Given the description of an element on the screen output the (x, y) to click on. 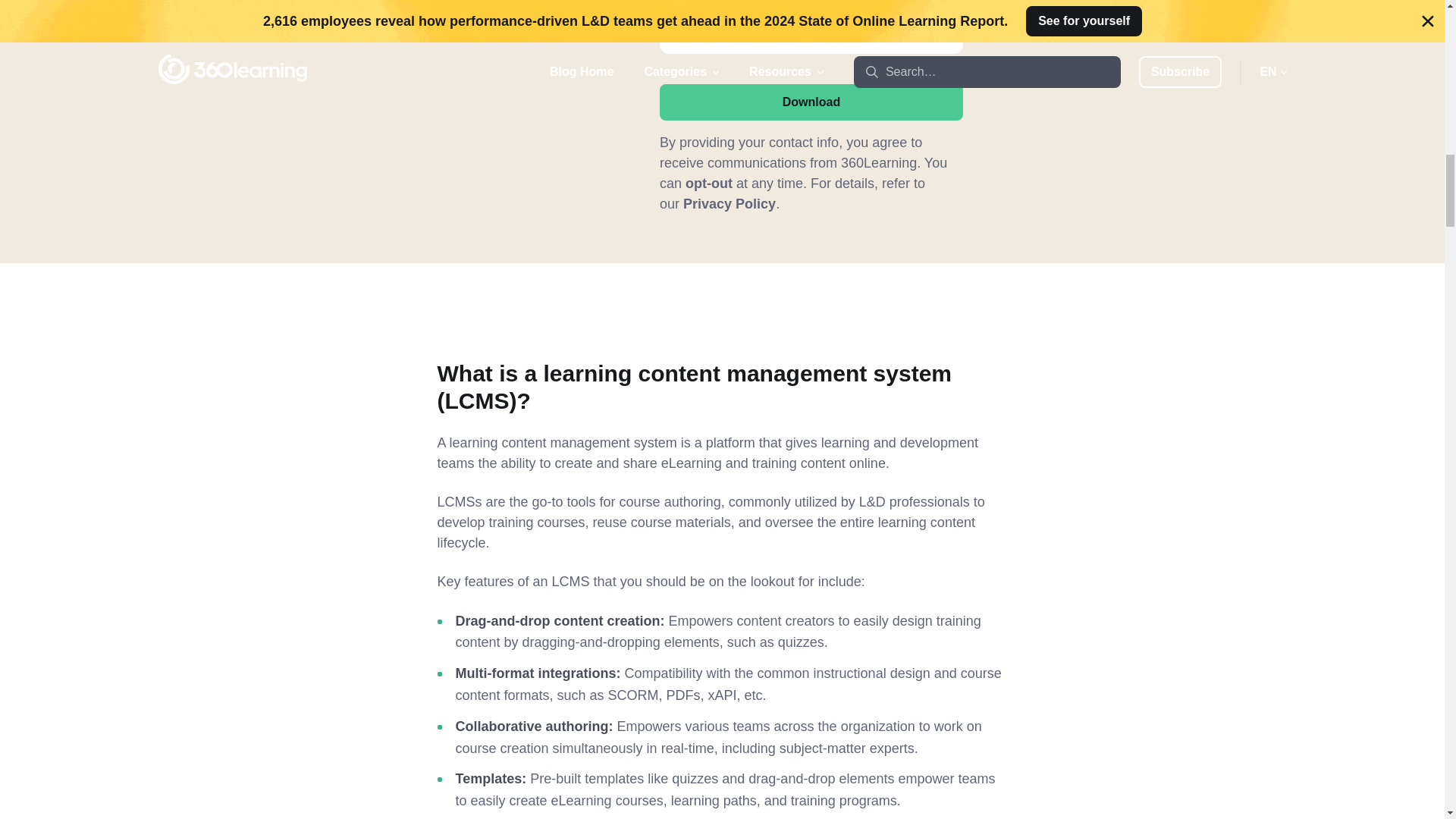
Download (810, 102)
opt-out (708, 183)
Privacy Policy (729, 203)
